Given the description of an element on the screen output the (x, y) to click on. 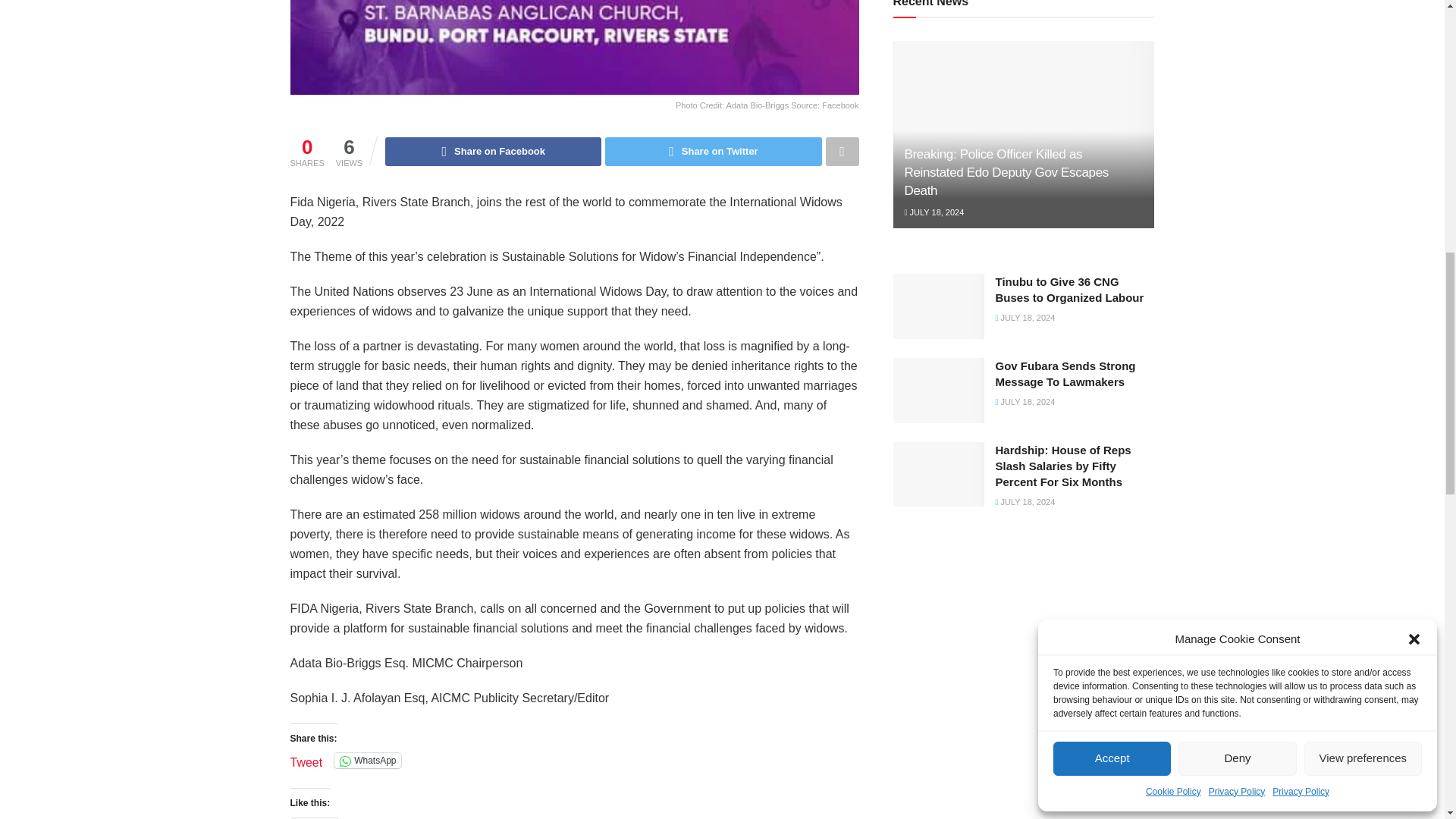
Click to share on WhatsApp (367, 760)
